Given the description of an element on the screen output the (x, y) to click on. 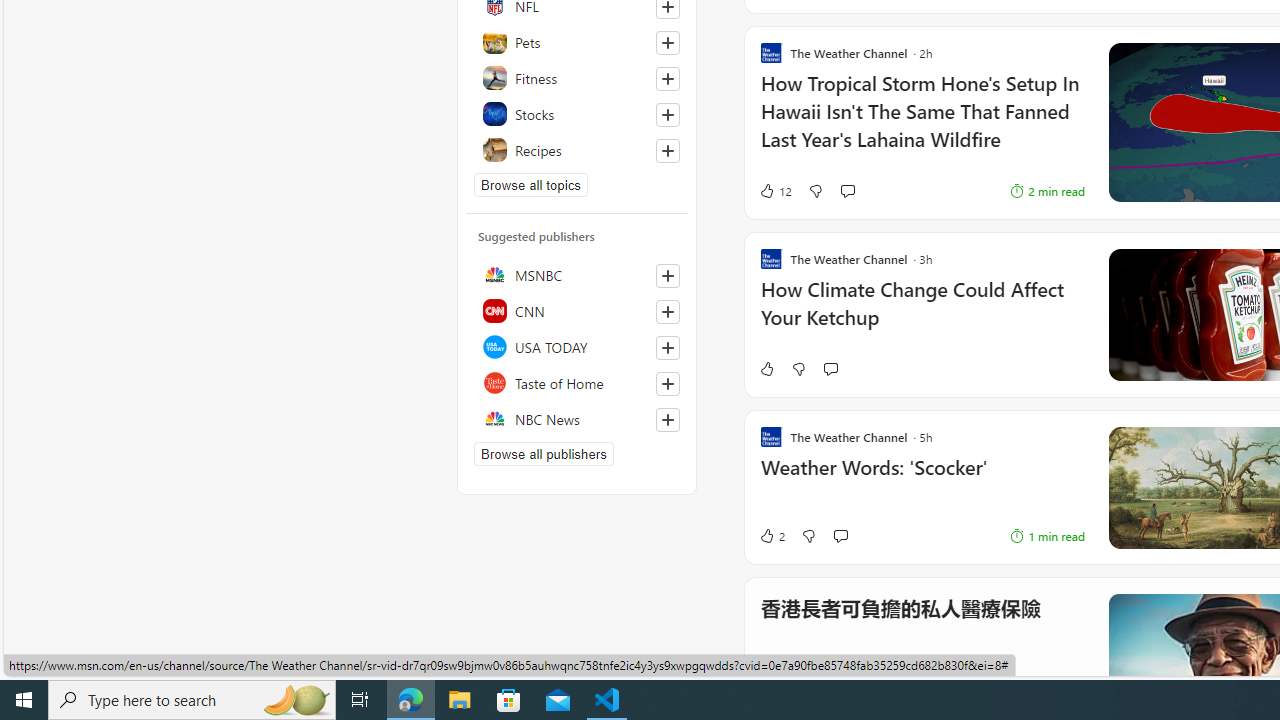
Pets (577, 42)
Recipes (577, 150)
How Climate Change Could Affect Your Ketchup (922, 313)
NBC News (577, 418)
Stocks (577, 114)
MSNBC (577, 274)
Taste of Home (577, 382)
